Given the description of an element on the screen output the (x, y) to click on. 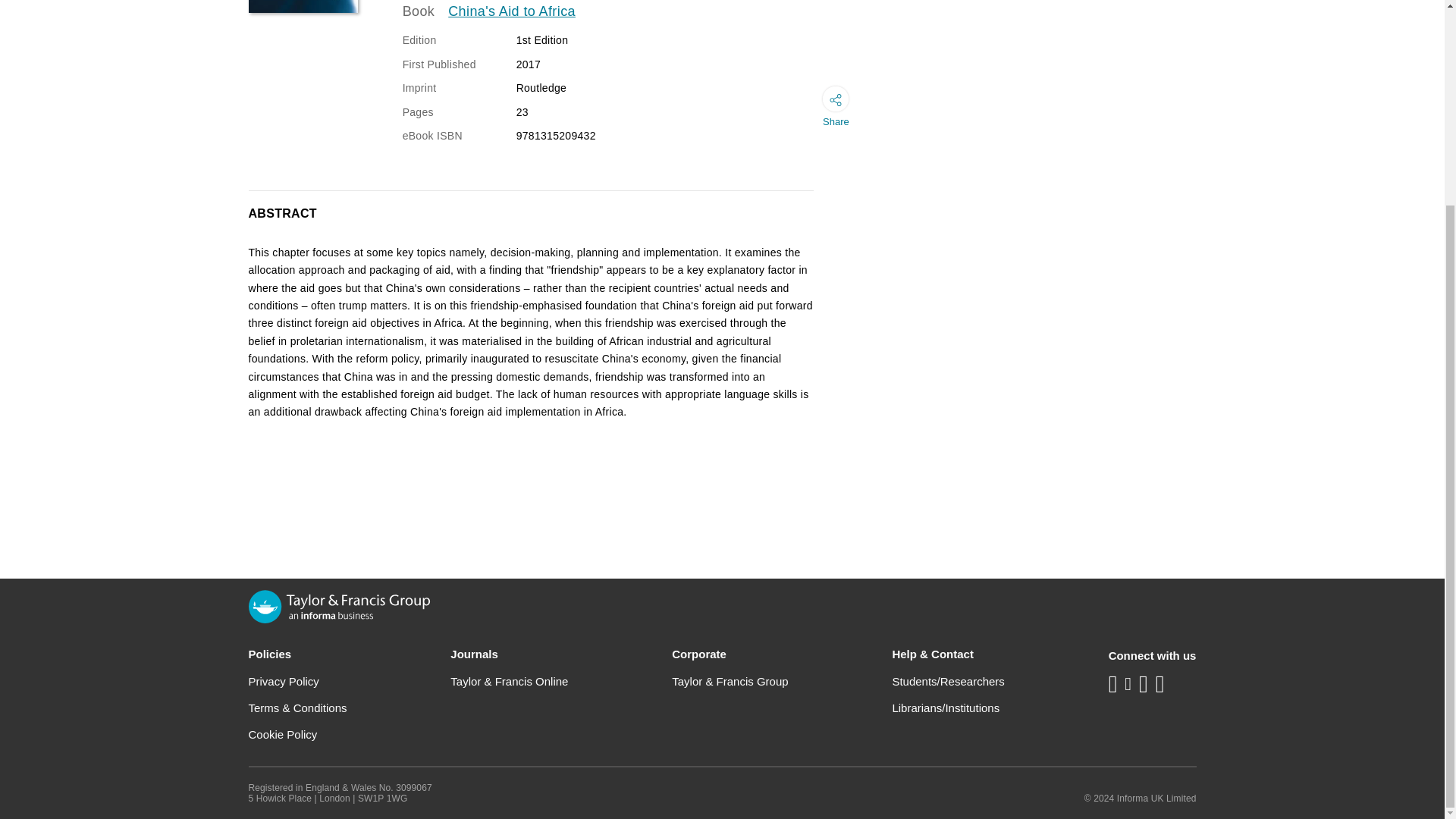
Privacy Policy (283, 681)
Cookie Policy (282, 734)
China's Aid to Africa (511, 11)
